Given the description of an element on the screen output the (x, y) to click on. 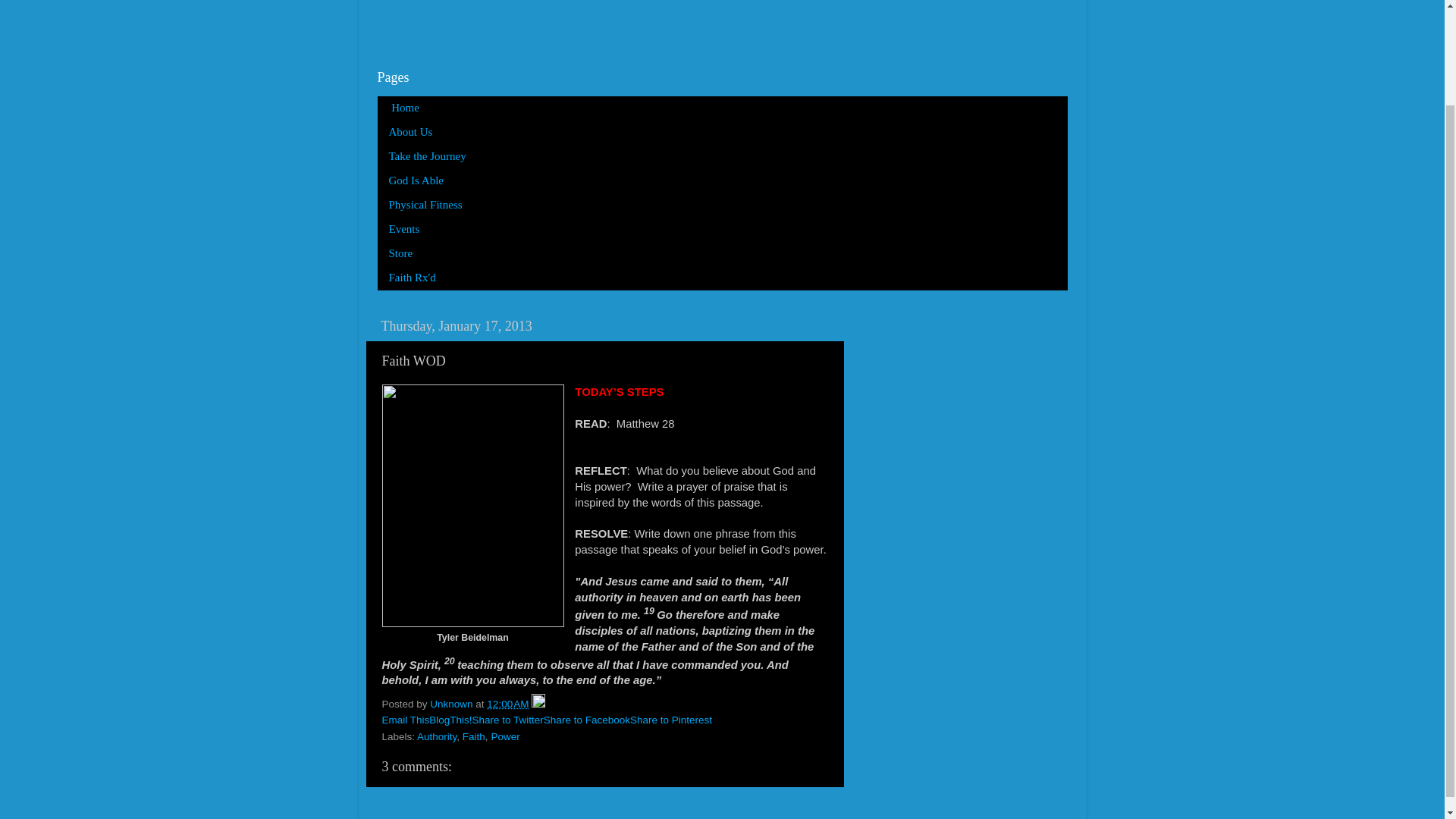
Take the Journey (428, 156)
Share to Twitter (507, 719)
Faith Rx'd (412, 278)
Home (403, 108)
Email This (405, 719)
Authority (436, 736)
Share to Facebook (586, 719)
author profile (452, 704)
Faith (473, 736)
